Given the description of an element on the screen output the (x, y) to click on. 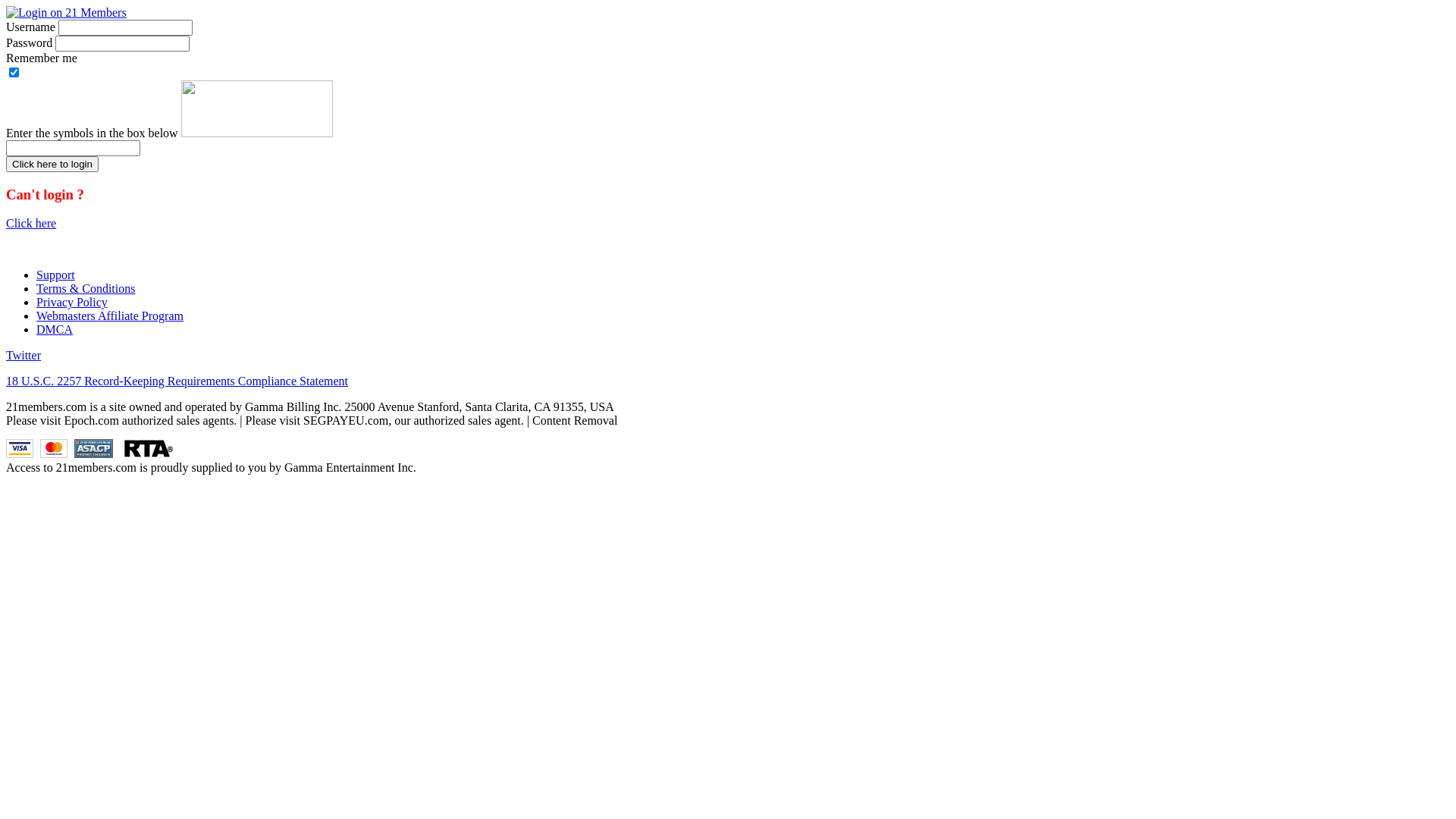
Login on 21 Members Element type: hover (66, 12)
Webmasters Affiliate Program Element type: text (109, 315)
Click here to login Element type: text (52, 164)
Epoch.com Element type: text (90, 420)
Support Element type: text (55, 274)
Twitter Element type: text (23, 354)
SEGPAYEU.com Element type: text (345, 420)
DMCA Element type: text (54, 329)
Terms & Conditions Element type: text (85, 288)
Content Removal Element type: text (574, 420)
Click here Element type: text (31, 222)
Privacy Policy Element type: text (71, 301)
